Given the description of an element on the screen output the (x, y) to click on. 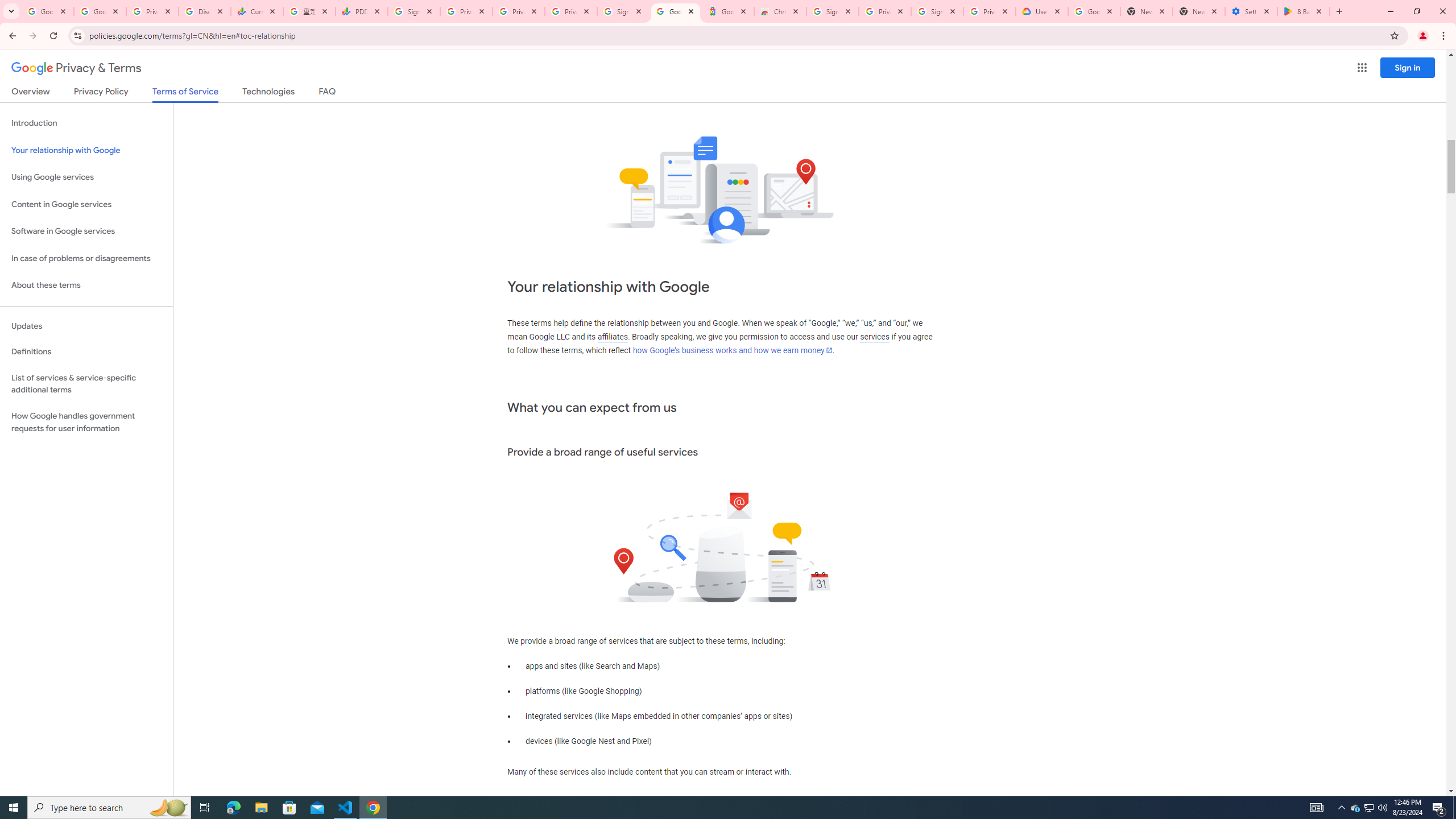
About these terms (86, 284)
Settings - System (1251, 11)
Sign in - Google Accounts (413, 11)
Google (727, 11)
